Given the description of an element on the screen output the (x, y) to click on. 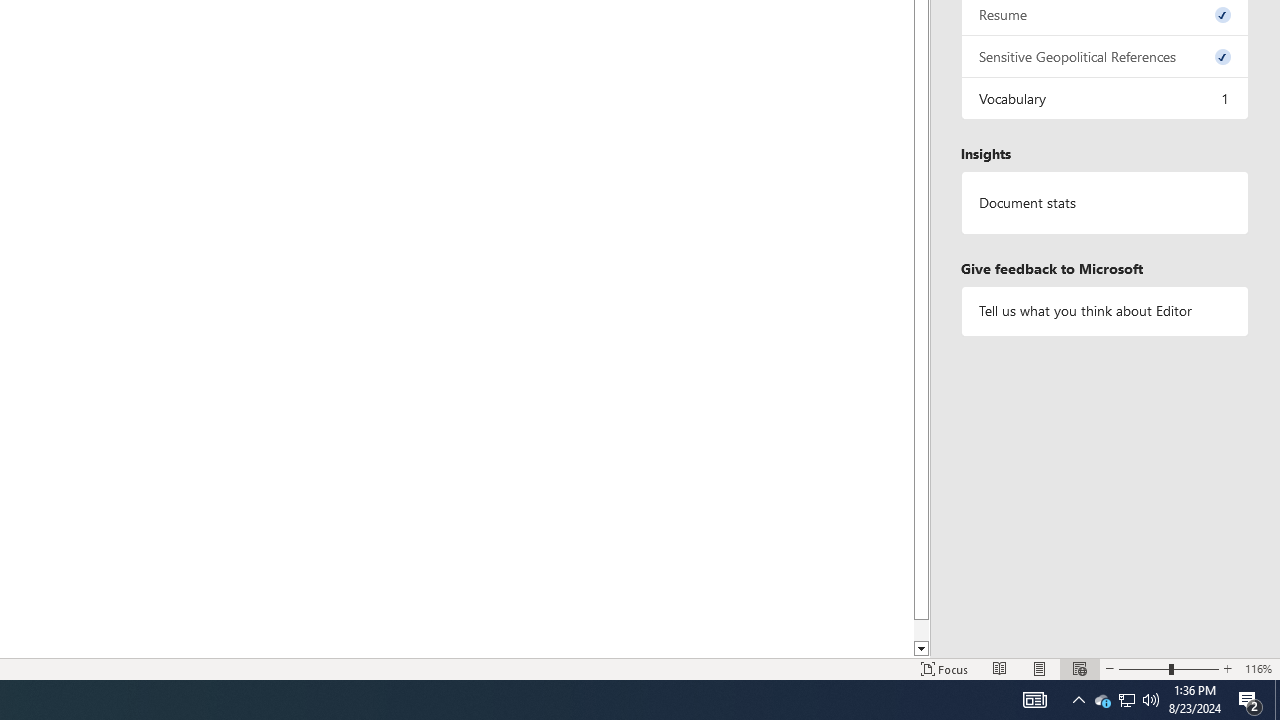
Zoom 116% (1258, 668)
Document statistics (1105, 203)
Tell us what you think about Editor (1105, 311)
Vocabulary, 1 issue. Press space or enter to review items. (1105, 97)
